Given the description of an element on the screen output the (x, y) to click on. 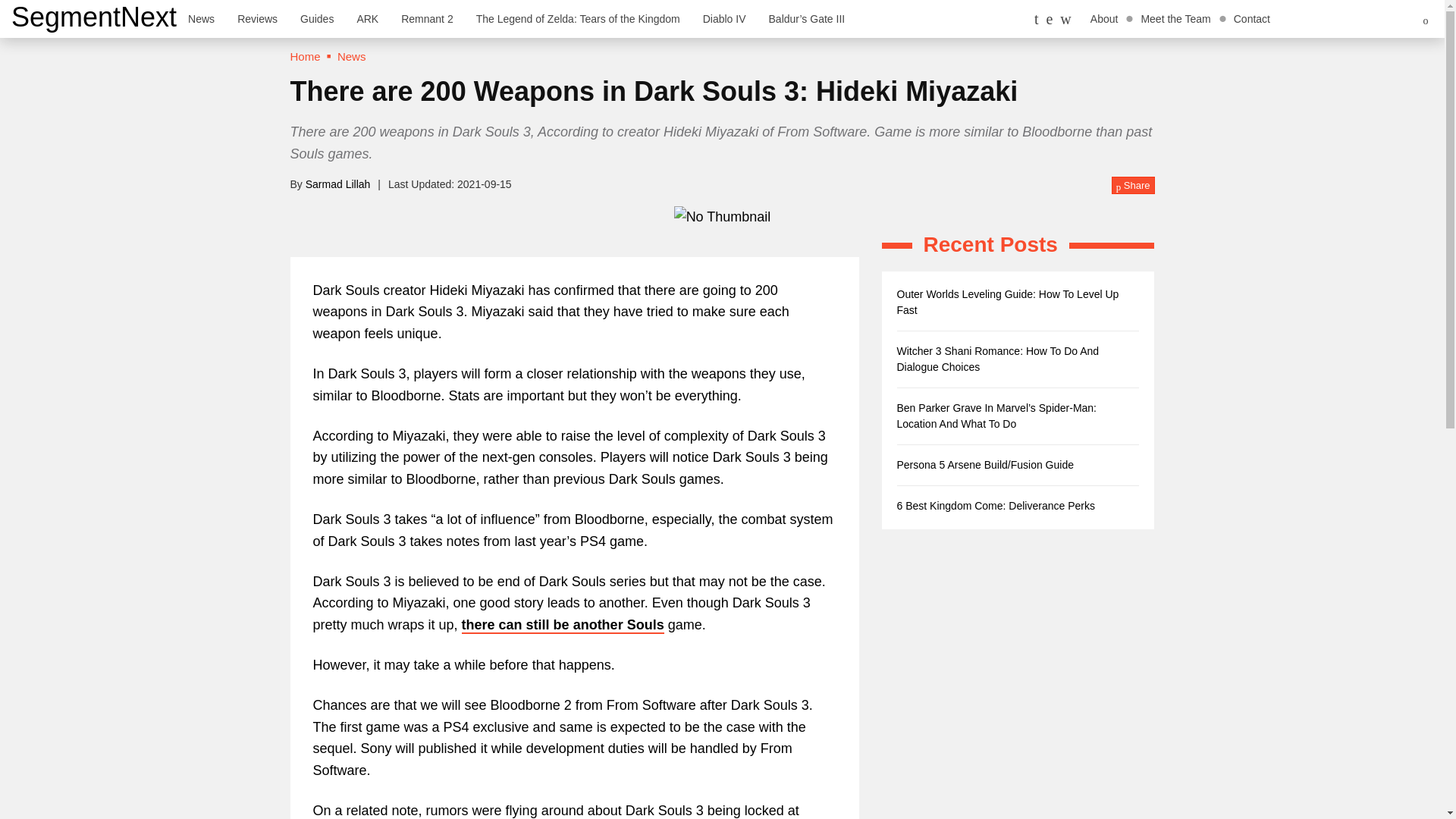
Sarmad Lillah (338, 184)
Witcher 3 Shani Romance: How To Do And Dialogue Choices (997, 358)
News (351, 56)
there can still be another Souls (562, 625)
Guides (316, 18)
The Legend of Zelda: Tears of the Kingdom (577, 18)
Remnant 2 (427, 18)
Share (1133, 185)
The Legend of Zelda: Tears of the Kingdom (577, 18)
About (1103, 18)
